Given the description of an element on the screen output the (x, y) to click on. 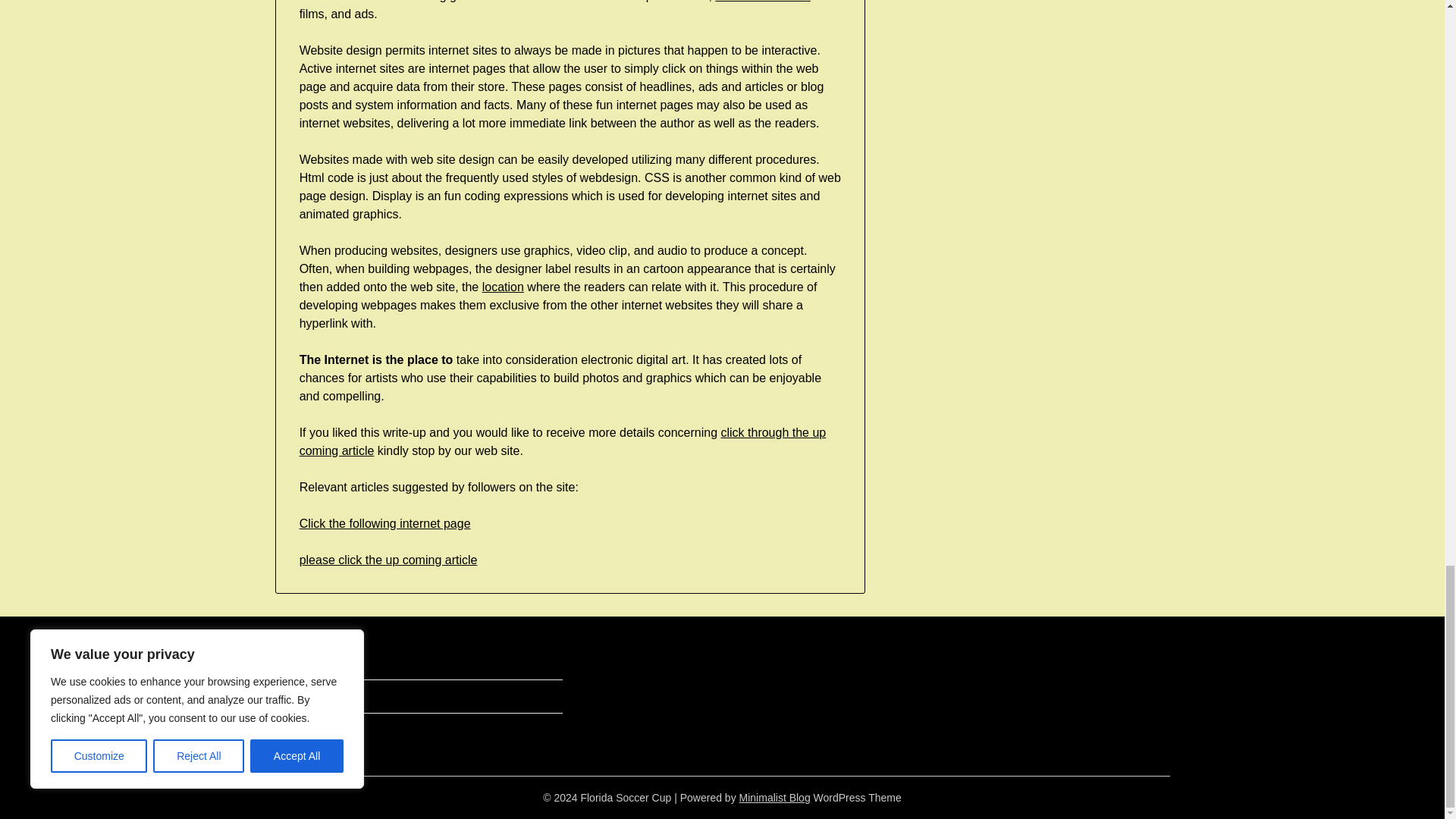
please click the up coming article (388, 559)
location (502, 286)
click through the up coming article (563, 441)
Click the following internet page (384, 522)
business oriented (761, 1)
